Given the description of an element on the screen output the (x, y) to click on. 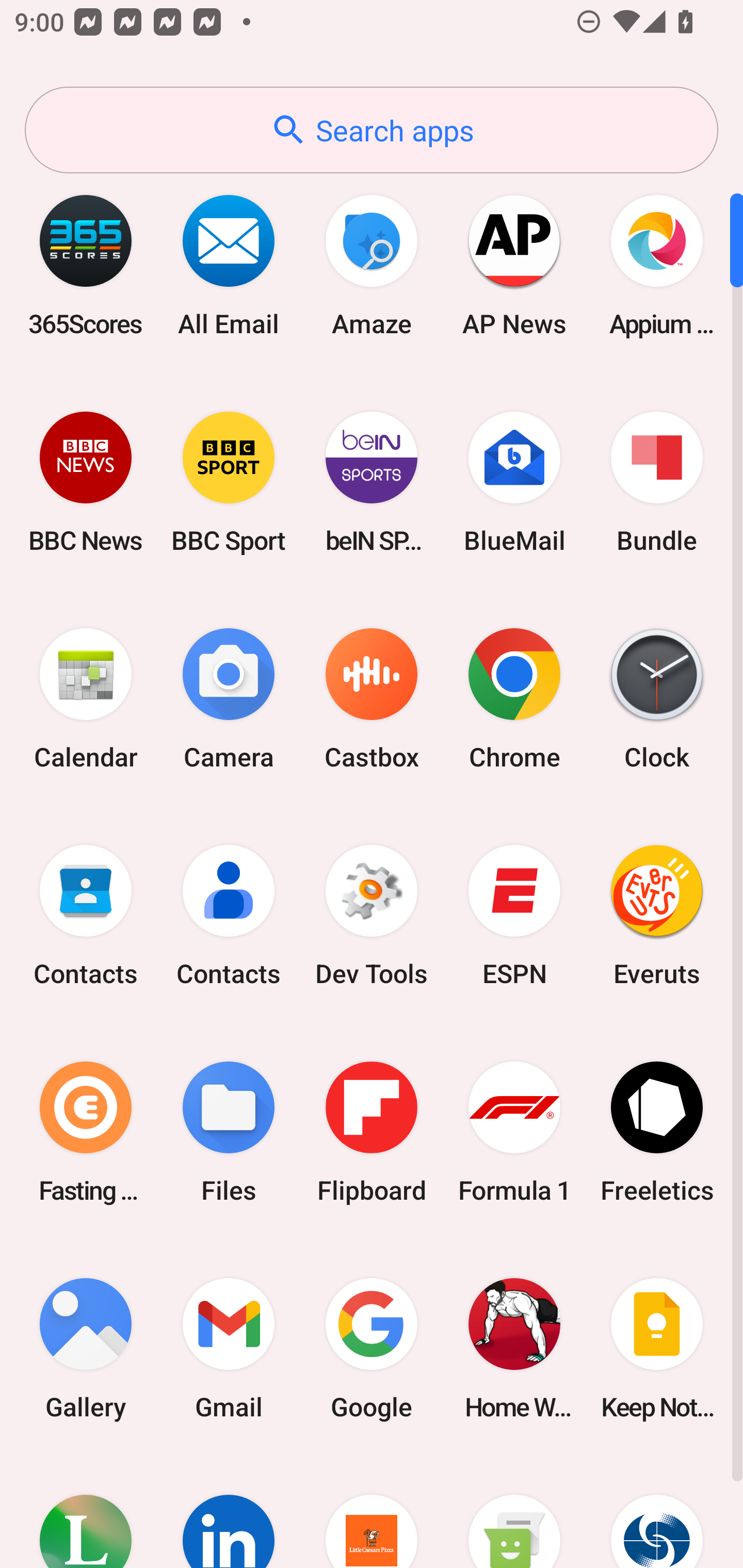
  Search apps (371, 130)
365Scores (85, 264)
All Email (228, 264)
Amaze (371, 264)
AP News (514, 264)
Appium Settings (656, 264)
BBC News (85, 482)
BBC Sport (228, 482)
beIN SPORTS (371, 482)
BlueMail (514, 482)
Bundle (656, 482)
Calendar (85, 699)
Camera (228, 699)
Castbox (371, 699)
Chrome (514, 699)
Clock (656, 699)
Contacts (85, 915)
Contacts (228, 915)
Dev Tools (371, 915)
ESPN (514, 915)
Everuts (656, 915)
Fasting Coach (85, 1131)
Files (228, 1131)
Flipboard (371, 1131)
Formula 1 (514, 1131)
Freeletics (656, 1131)
Gallery (85, 1348)
Gmail (228, 1348)
Google (371, 1348)
Home Workout (514, 1348)
Keep Notes (656, 1348)
